Given the description of an element on the screen output the (x, y) to click on. 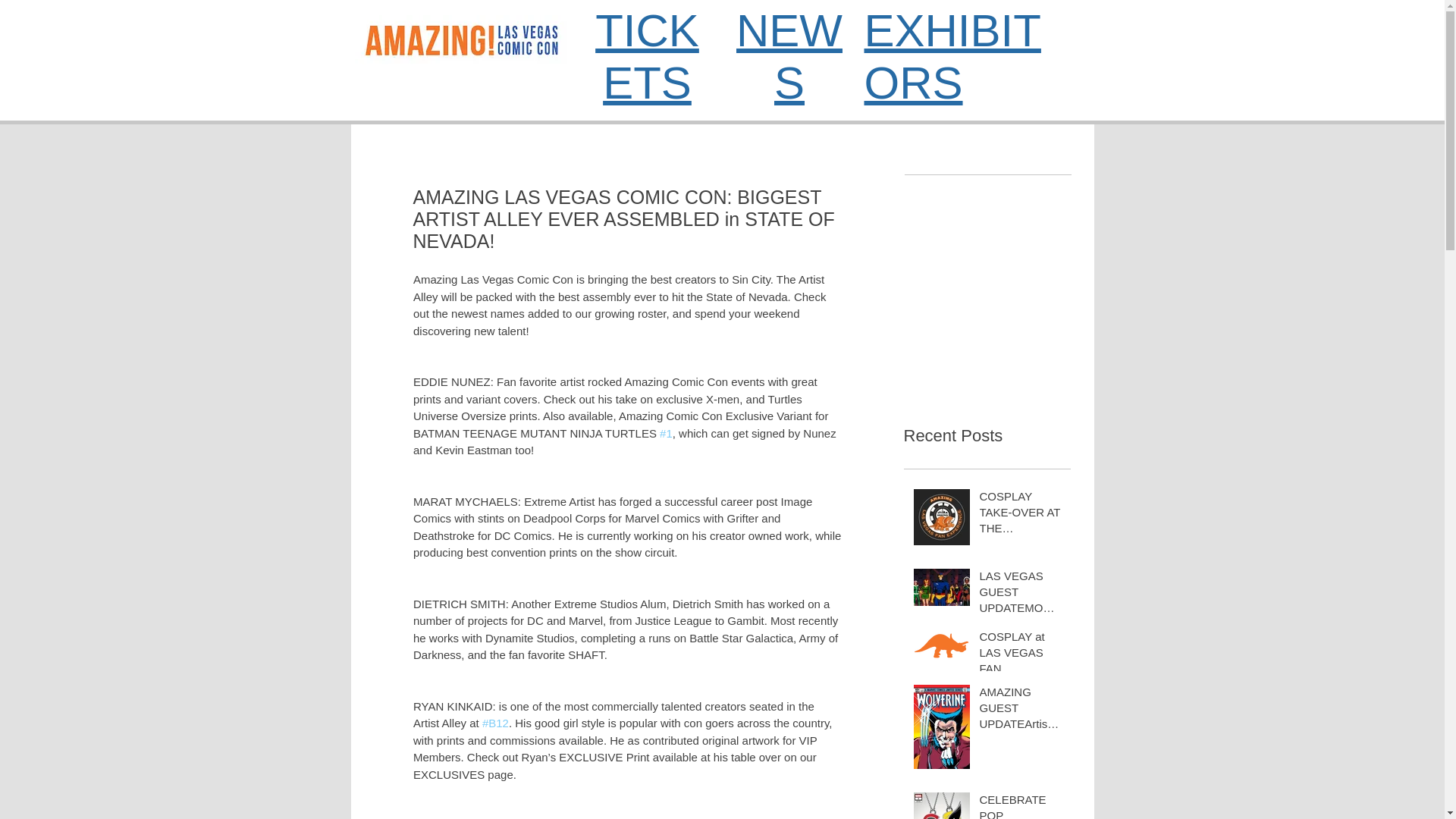
TICKETS (646, 56)
EXHIBITORS (952, 56)
NEWS (789, 56)
